Given the description of an element on the screen output the (x, y) to click on. 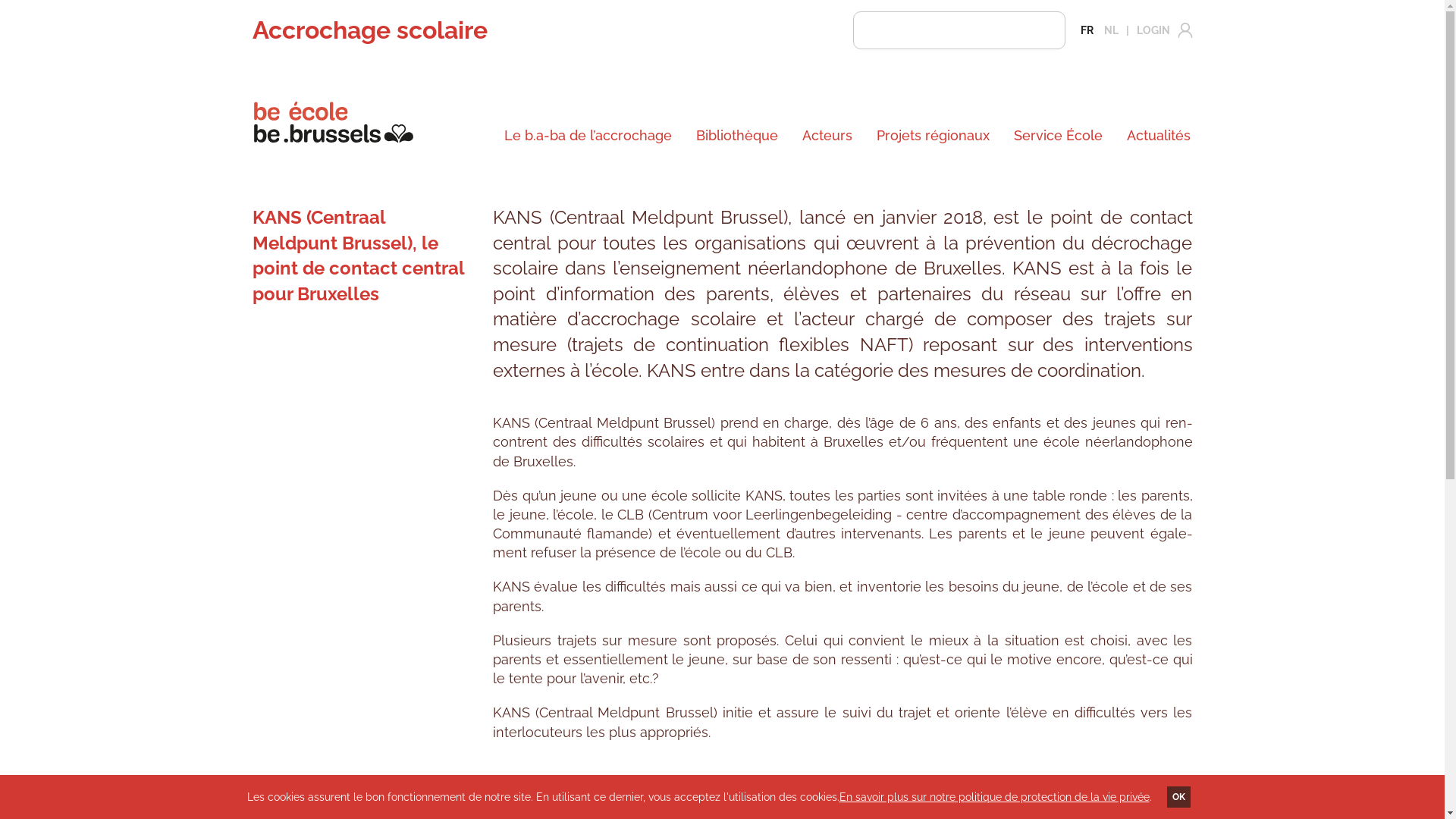
Rechercher Element type: text (1035, 31)
FR Element type: text (1085, 30)
LOGIN Element type: text (1154, 30)
Acteurs Element type: text (826, 135)
OK Element type: text (1177, 796)
NL Element type: text (1111, 30)
Accrochage scolaire Element type: text (368, 29)
